Given the description of an element on the screen output the (x, y) to click on. 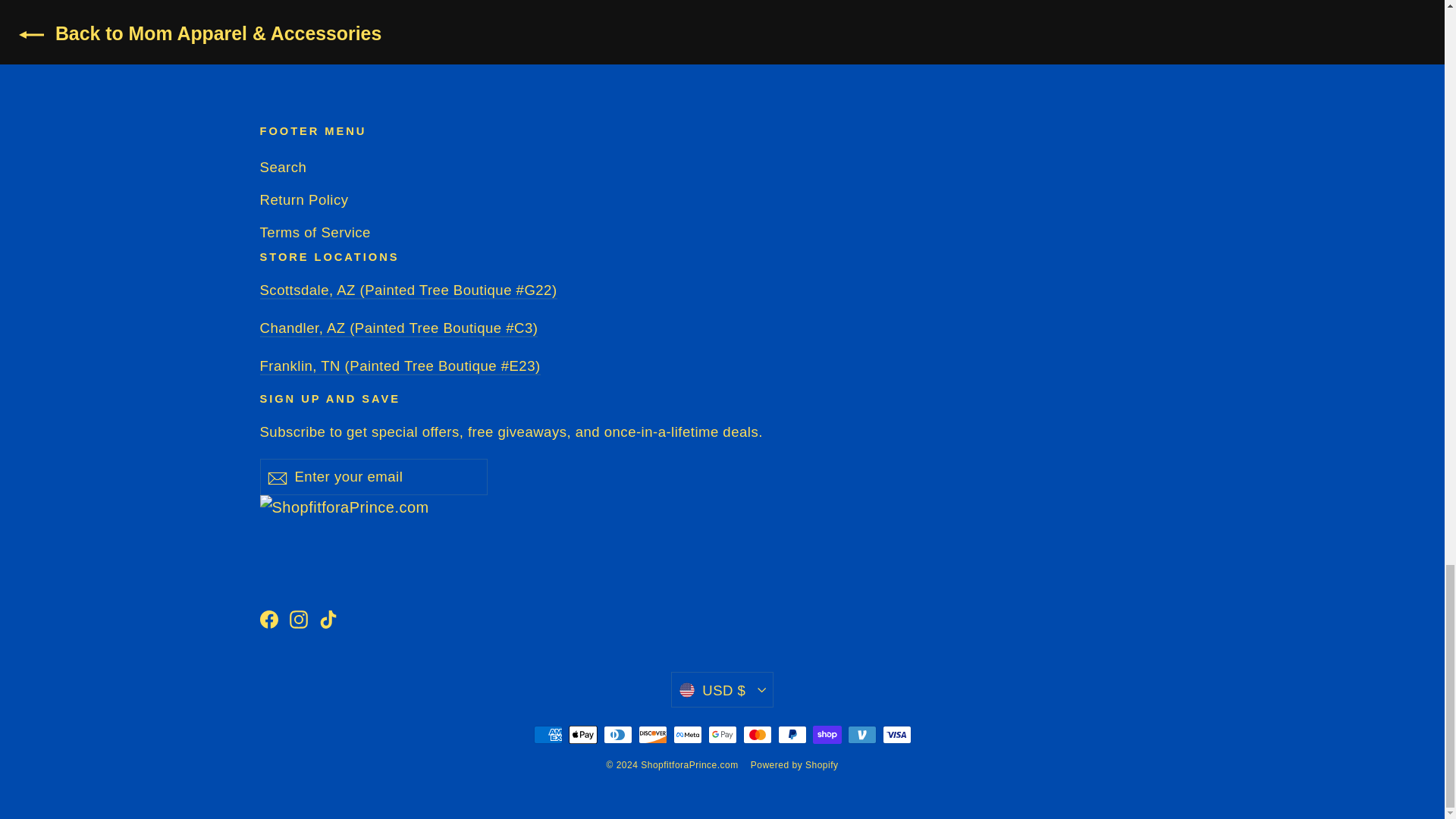
Diners Club (617, 734)
Meta Pay (686, 734)
Google Pay (721, 734)
FFAP - Scottsdale, AZ (407, 290)
FFAP - Franklin, TN (399, 366)
Discover (652, 734)
Apple Pay (582, 734)
PayPal (791, 734)
Shop Pay (826, 734)
FFAP - Chandler, AZ (398, 328)
